Given the description of an element on the screen output the (x, y) to click on. 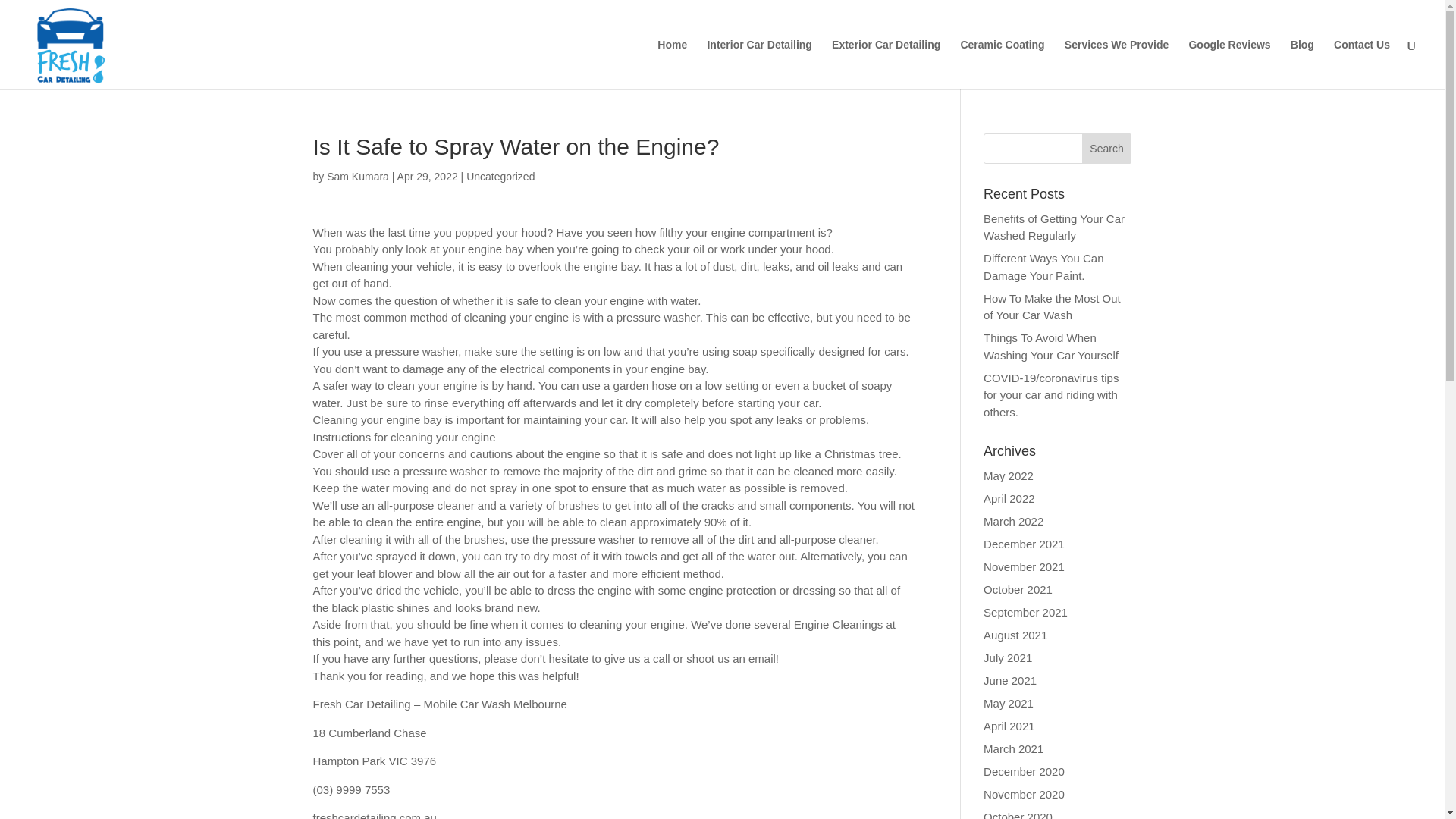
Interior Car Detailing (758, 64)
Search (1106, 148)
November 2020 (1024, 793)
June 2021 (1010, 680)
Sam Kumara (357, 176)
Ceramic Coating (1001, 64)
May 2021 (1008, 703)
May 2022 (1008, 475)
Posts by Sam Kumara (357, 176)
November 2021 (1024, 566)
